Given the description of an element on the screen output the (x, y) to click on. 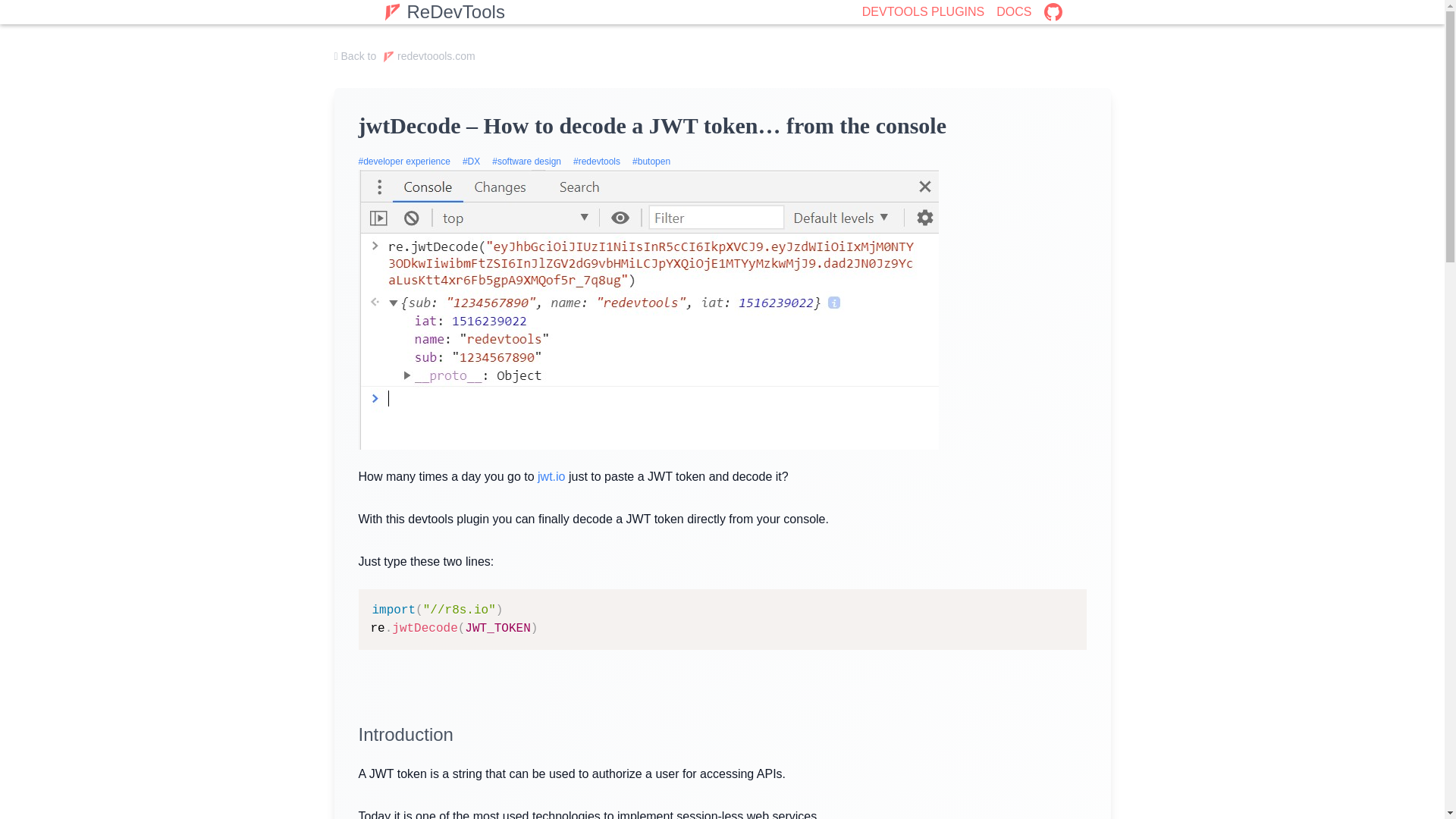
DOCS (1012, 12)
DEVTOOLS PLUGINS (923, 12)
jwt.io (550, 476)
ReDevTools on GitHub (1052, 12)
ReDevTools (442, 12)
